Given the description of an element on the screen output the (x, y) to click on. 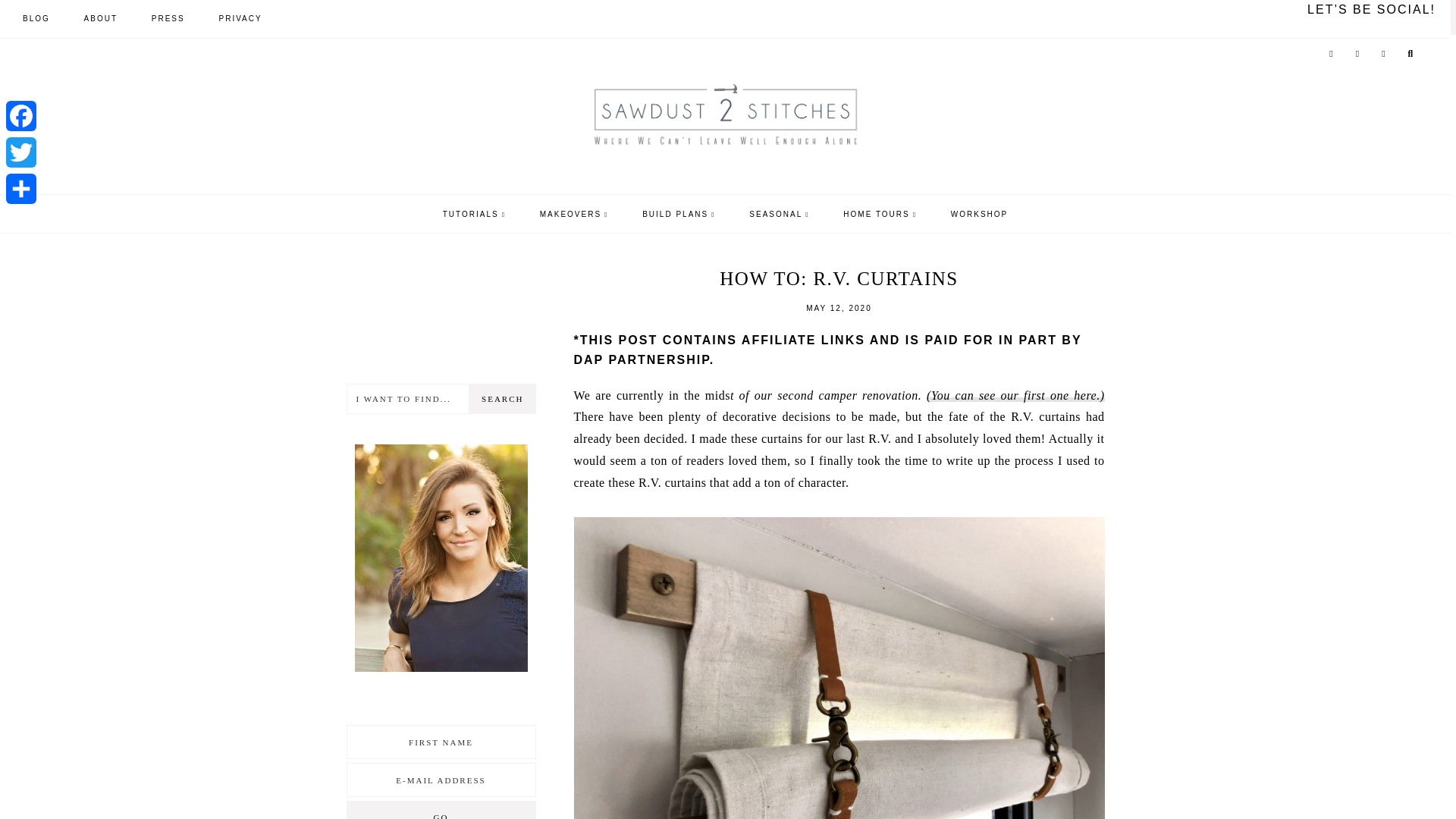
search (501, 399)
SEASONAL (779, 214)
Twitter (20, 152)
search (501, 399)
PRIVACY (240, 18)
TUTORIALS (473, 214)
Go (440, 809)
search (895, 370)
MAKEOVERS (574, 214)
